Given the description of an element on the screen output the (x, y) to click on. 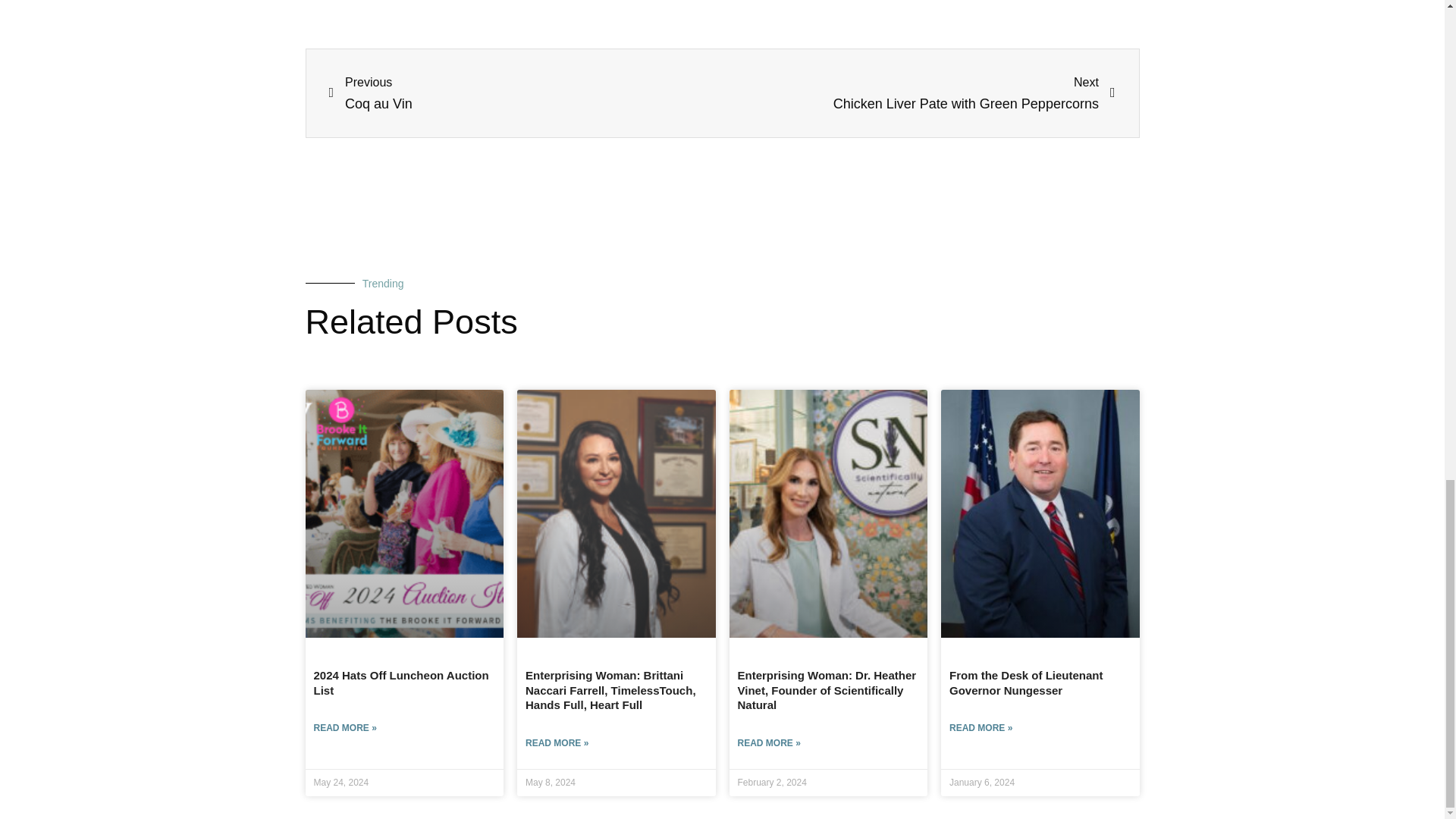
From the Desk of Lieutenant Governor Nungesser (1026, 682)
2024 Hats Off Luncheon Auction List (918, 93)
